Given the description of an element on the screen output the (x, y) to click on. 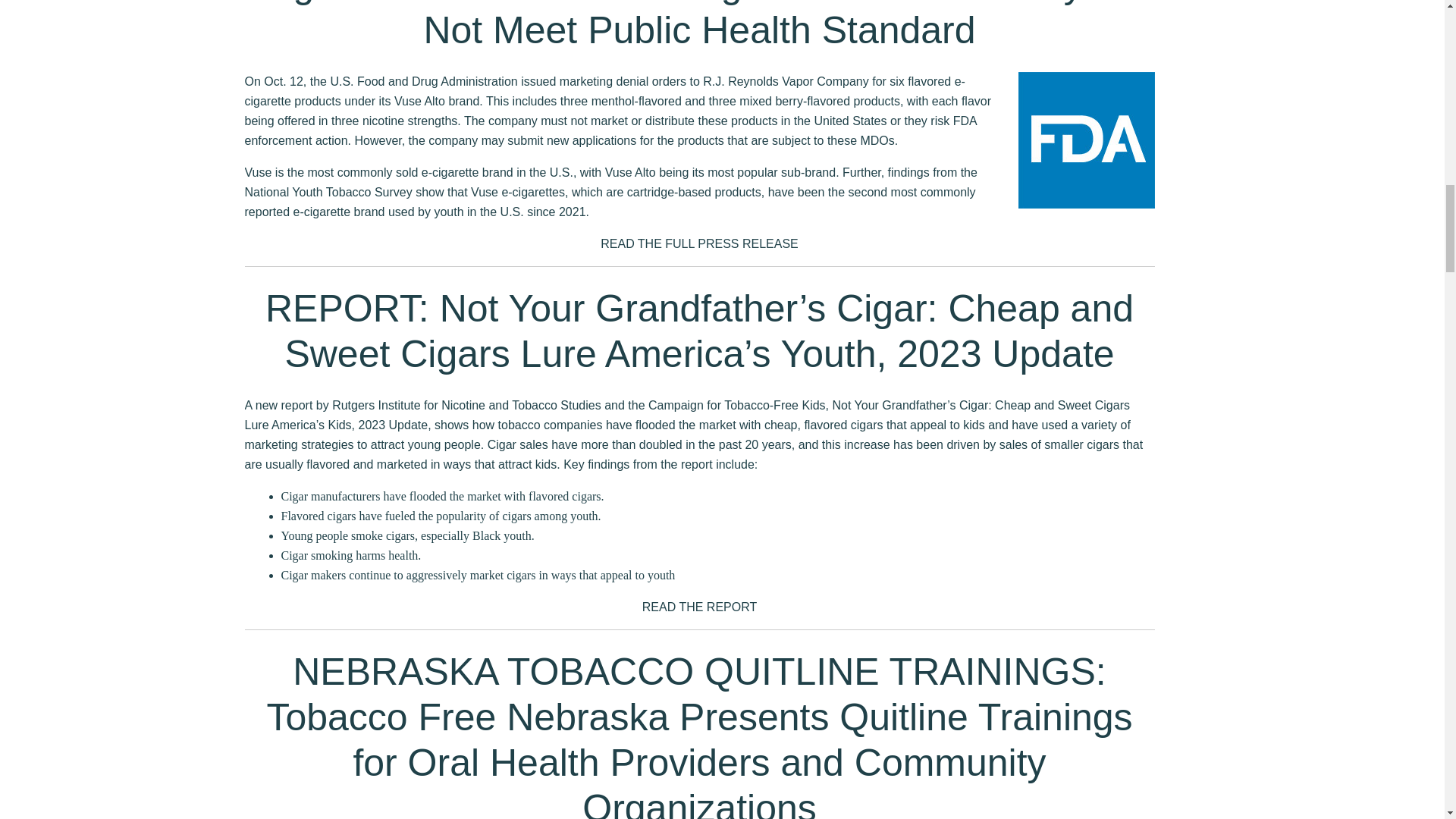
READ THE FULL PRESS RELEASE (698, 243)
Rutgers Institute for Nicotine and Tobacco Studies (466, 404)
Campaign for Tobacco-Free Kids (736, 404)
READ THE REPORT (699, 606)
marketing denial orders (622, 81)
